Given the description of an element on the screen output the (x, y) to click on. 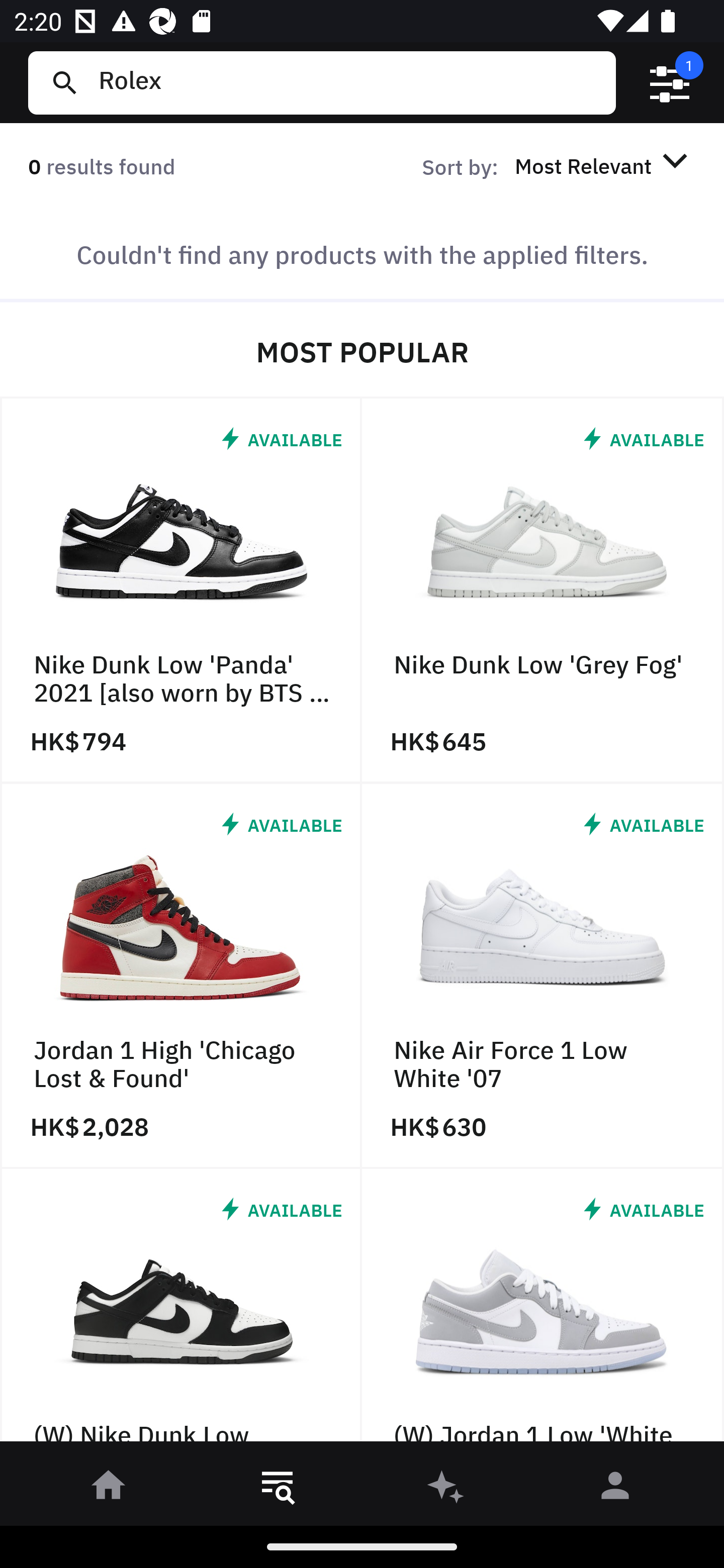
Rolex (349, 82)
 (669, 82)
Most Relevant  (604, 165)
 AVAILABLE Nike Dunk Low 'Grey Fog' HK$ 645 (543, 591)
 AVAILABLE Nike Air Force 1 Low White '07 HK$ 630 (543, 976)
 AVAILABLE (W) Nike Dunk Low 'Panda' 2021 (181, 1309)
 AVAILABLE (W) Jordan 1 Low 'White Wolf Grey' (543, 1309)
󰋜 (108, 1488)
󱎸 (277, 1488)
󰫢 (446, 1488)
󰀄 (615, 1488)
